Given the description of an element on the screen output the (x, y) to click on. 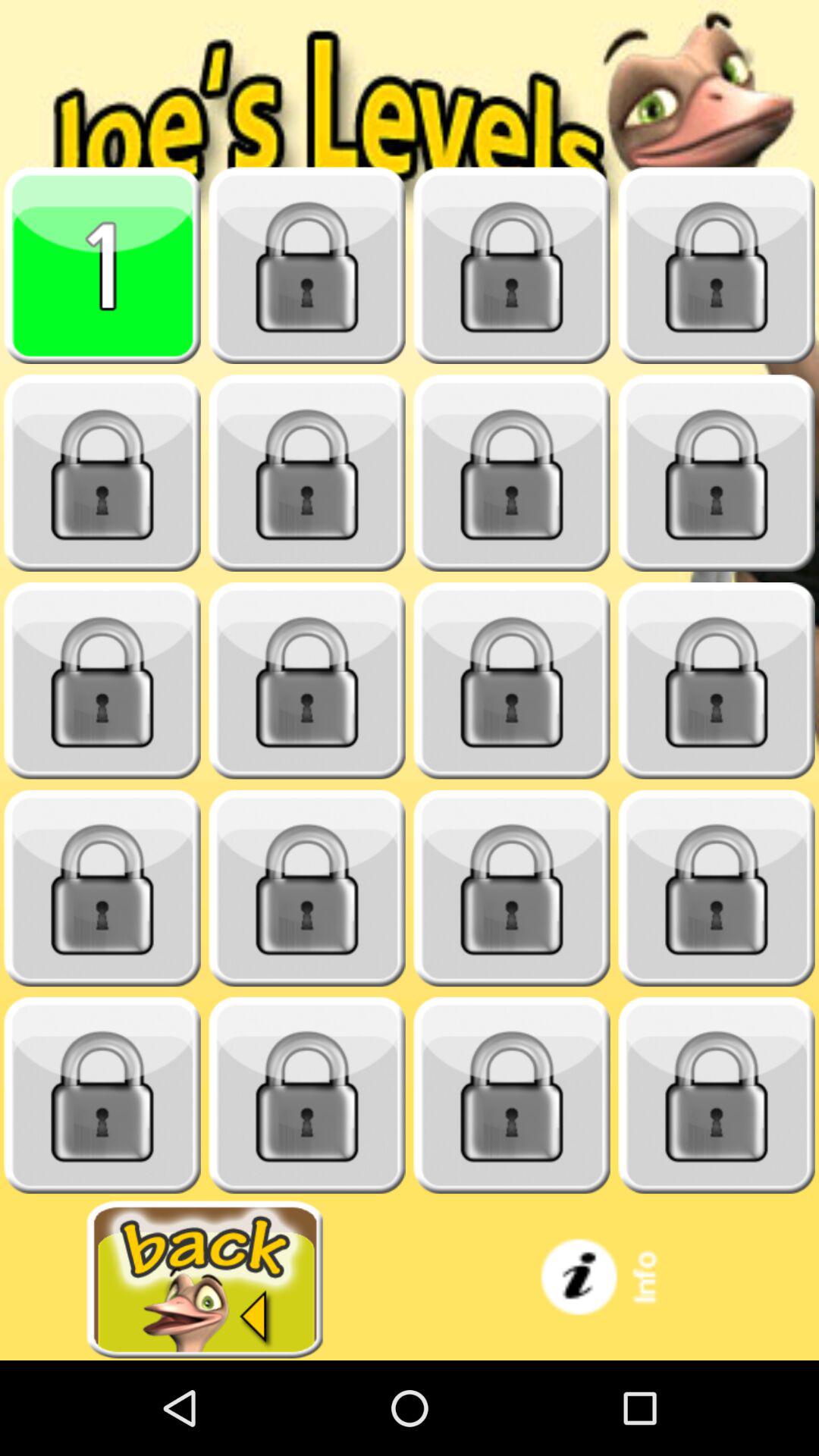
unlock level (511, 680)
